Given the description of an element on the screen output the (x, y) to click on. 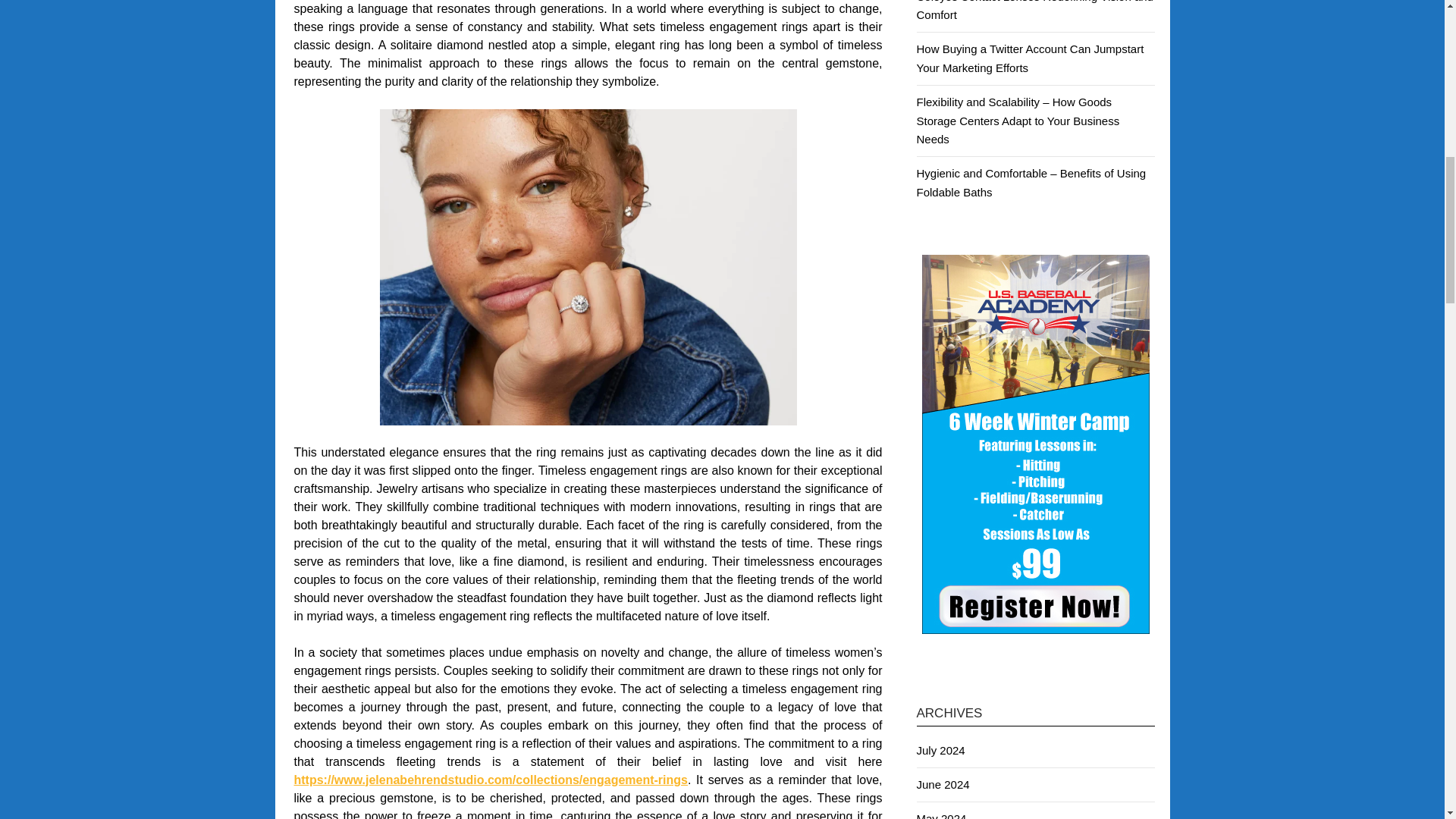
July 2024 (939, 749)
May 2024 (940, 815)
June 2024 (942, 784)
Coleyes Contact Lenses Redefining Vision and Comfort (1034, 10)
